Given the description of an element on the screen output the (x, y) to click on. 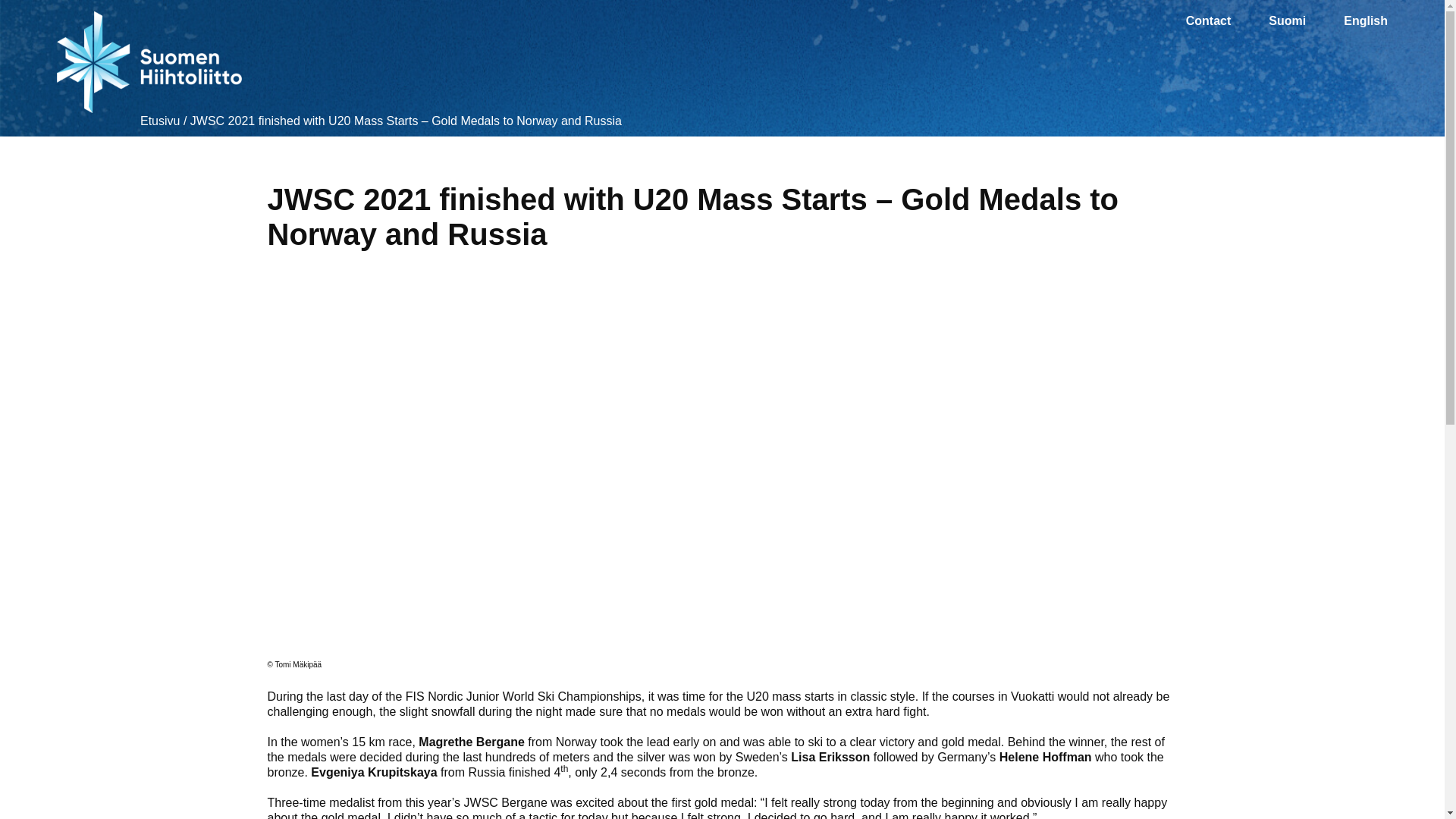
Etusivu (159, 120)
Contact (1208, 21)
English (1365, 21)
Suomi (1287, 21)
